Given the description of an element on the screen output the (x, y) to click on. 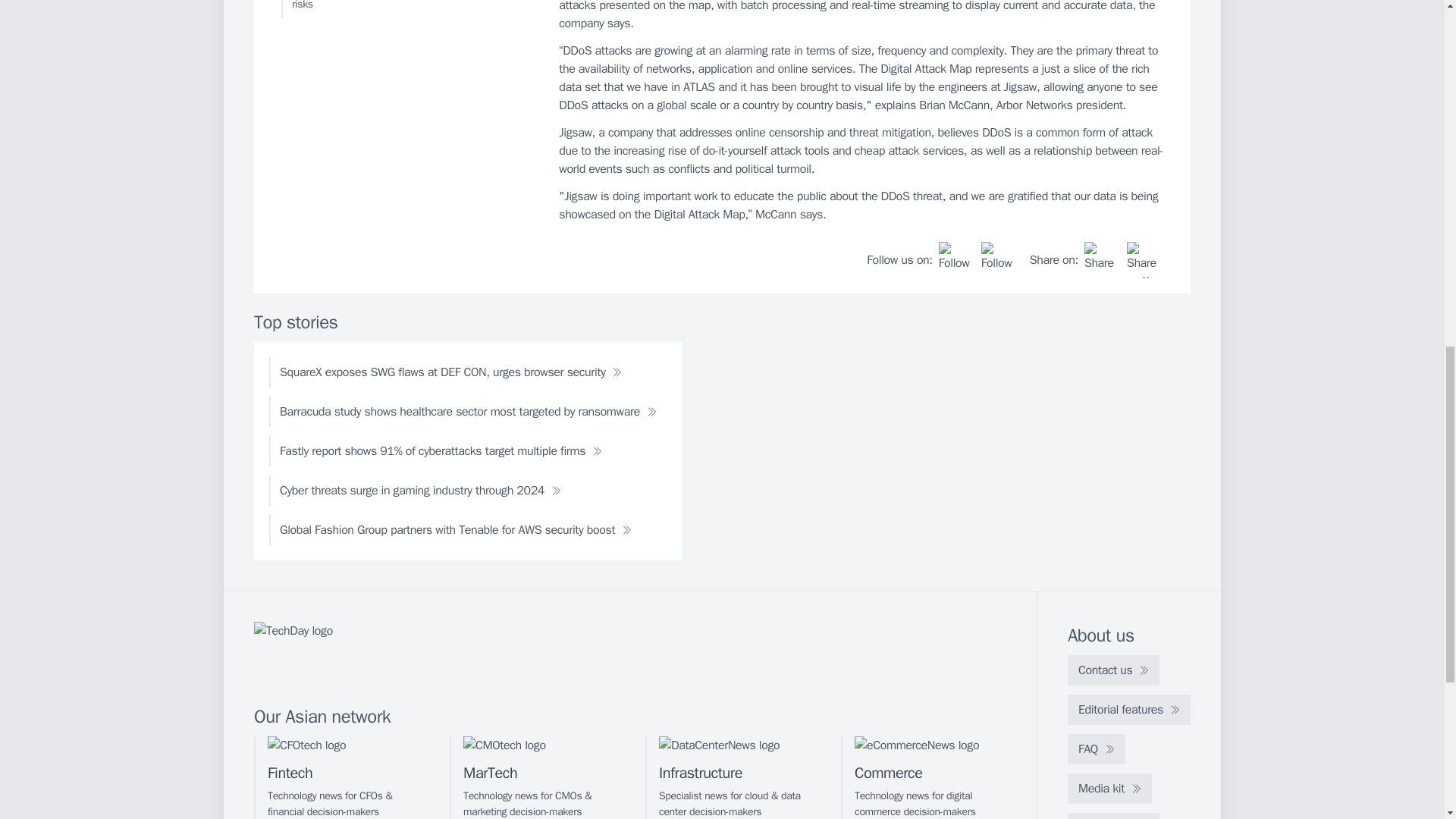
SquareX exposes SWG flaws at DEF CON, urges browser security (450, 372)
Cyber threats surge in gaming industry through 2024 (420, 490)
